Given the description of an element on the screen output the (x, y) to click on. 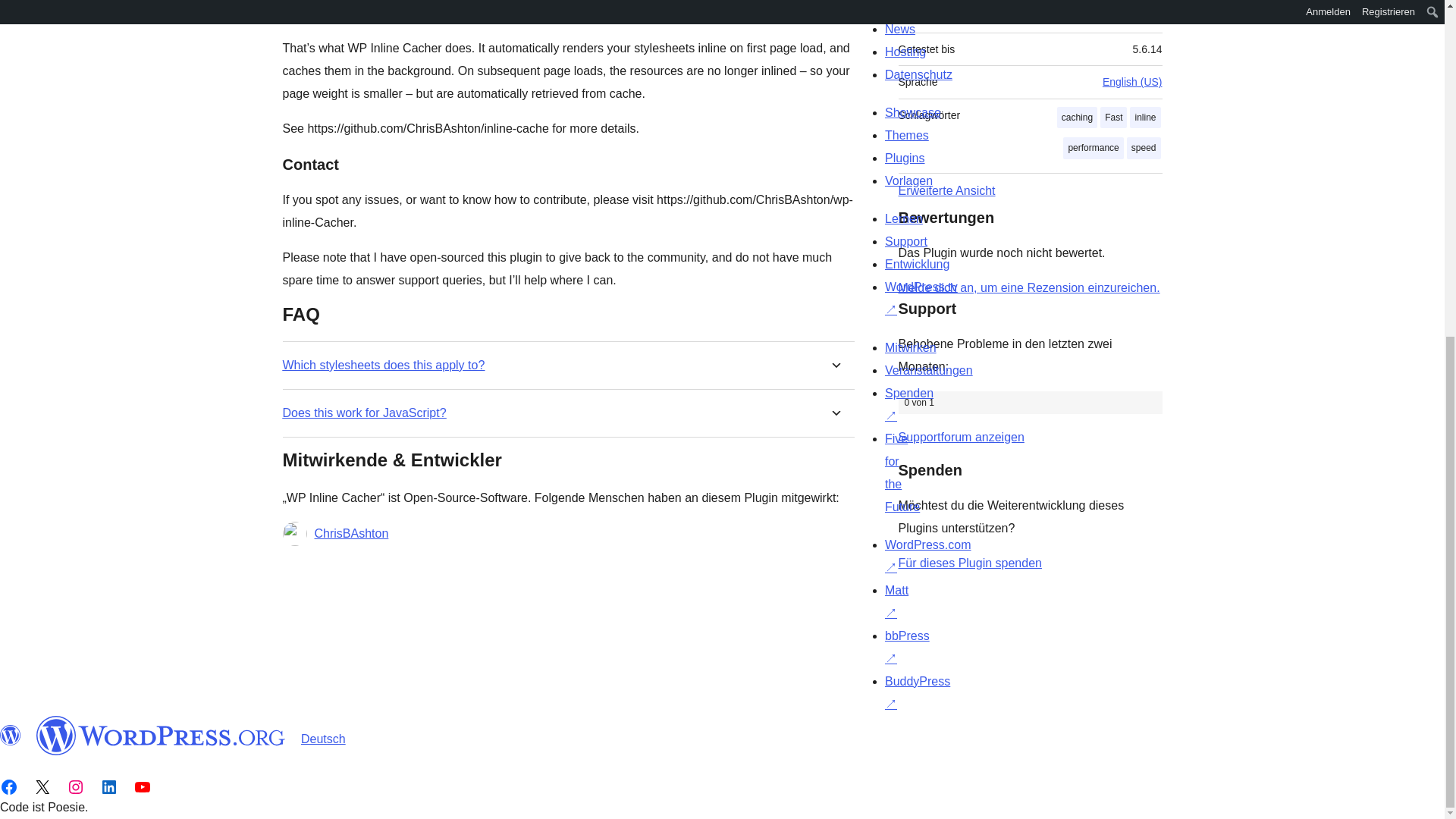
Does this work for JavaScript? (363, 412)
Which stylesheets does this apply to? (383, 364)
WordPress.org (10, 735)
WordPress.org (160, 735)
ChrisBAshton (351, 533)
Melde dich bei WordPress.org an (1028, 287)
